Given the description of an element on the screen output the (x, y) to click on. 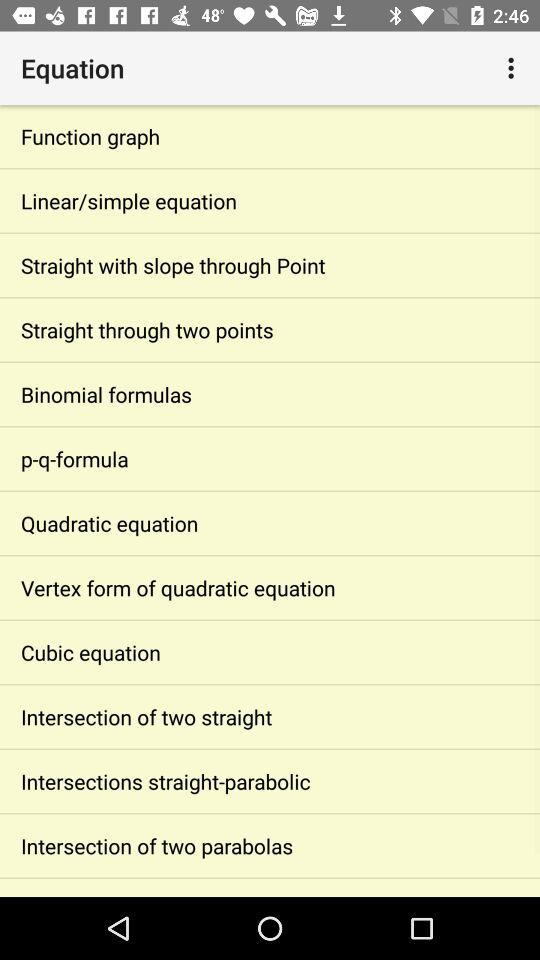
turn off the item below quadratic equation item (270, 587)
